Given the description of an element on the screen output the (x, y) to click on. 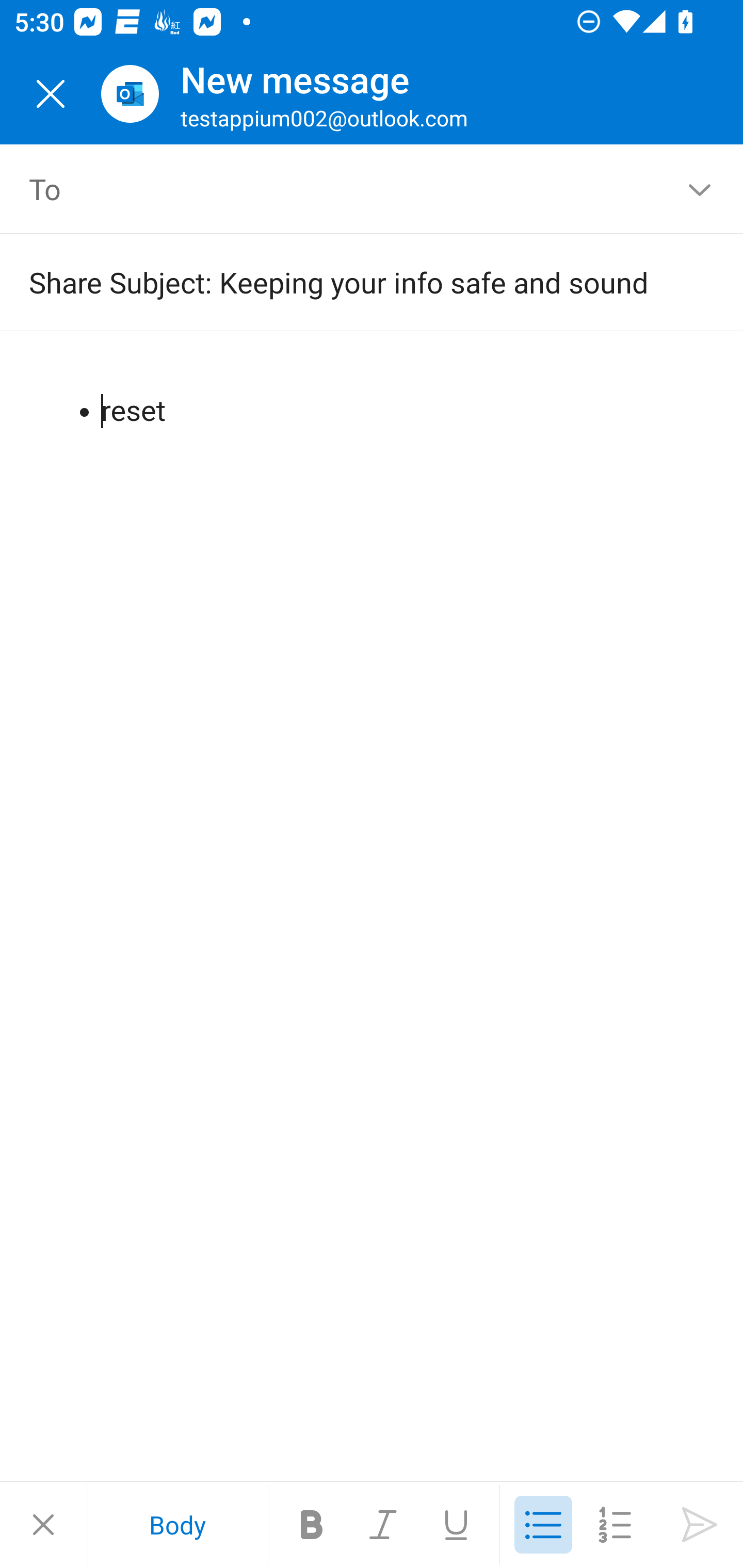
Close (50, 93)
Share Subject: Keeping your info safe and sound (342, 281)

• reset (372, 394)
Close (43, 1524)
Send (699, 1524)
Font style button body Body (176, 1524)
Bold (311, 1524)
Italics (384, 1524)
Underline (456, 1524)
Bulleted list (543, 1524)
Numbered list (615, 1524)
